Given the description of an element on the screen output the (x, y) to click on. 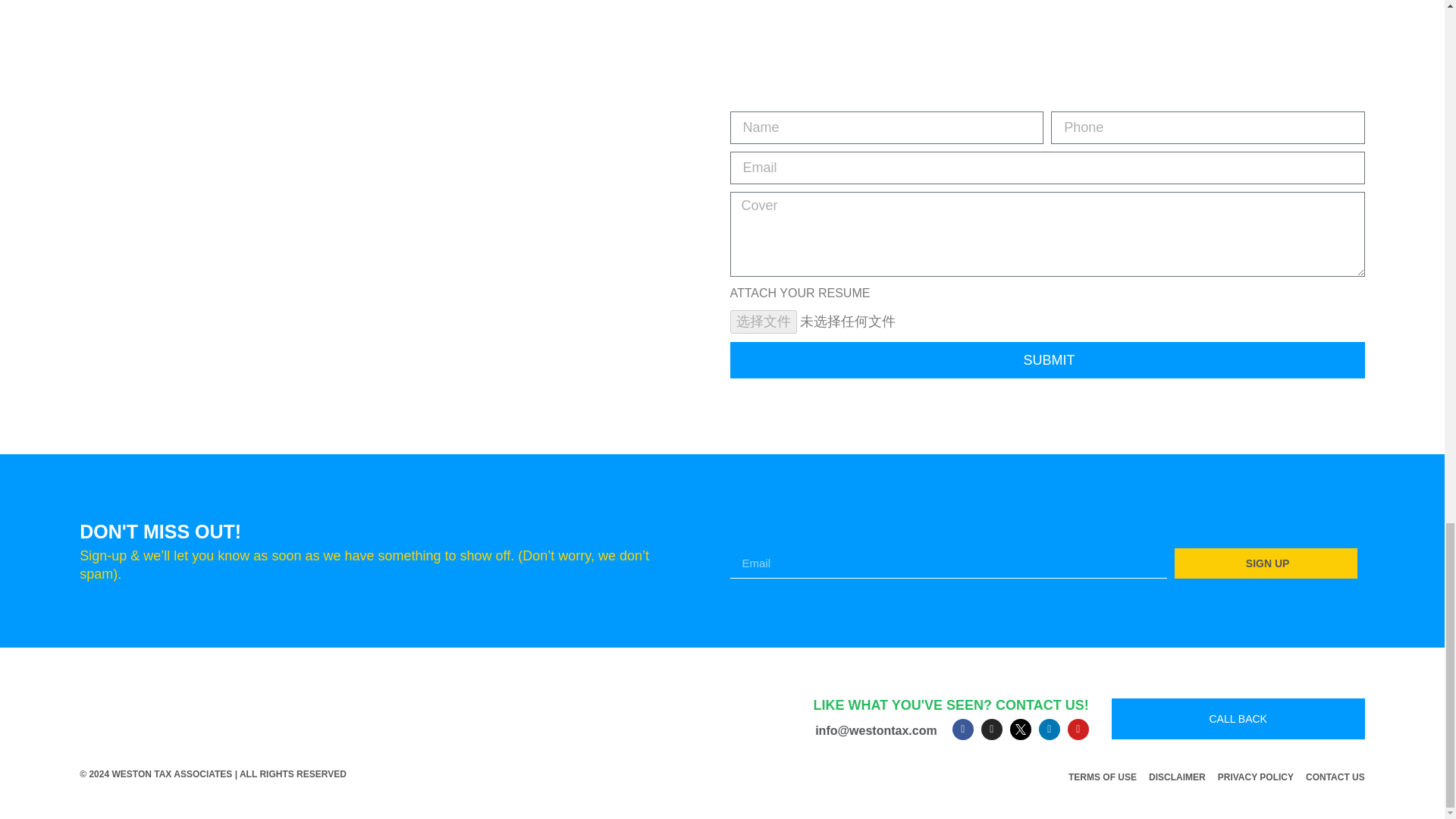
PRIVACY POLICY (1255, 777)
CALL BACK (1238, 718)
CONTACT US (1335, 777)
SIGN UP (1265, 562)
SUBMIT (1046, 360)
TERMS OF USE (1102, 777)
DISCLAIMER (1176, 777)
